Given the description of an element on the screen output the (x, y) to click on. 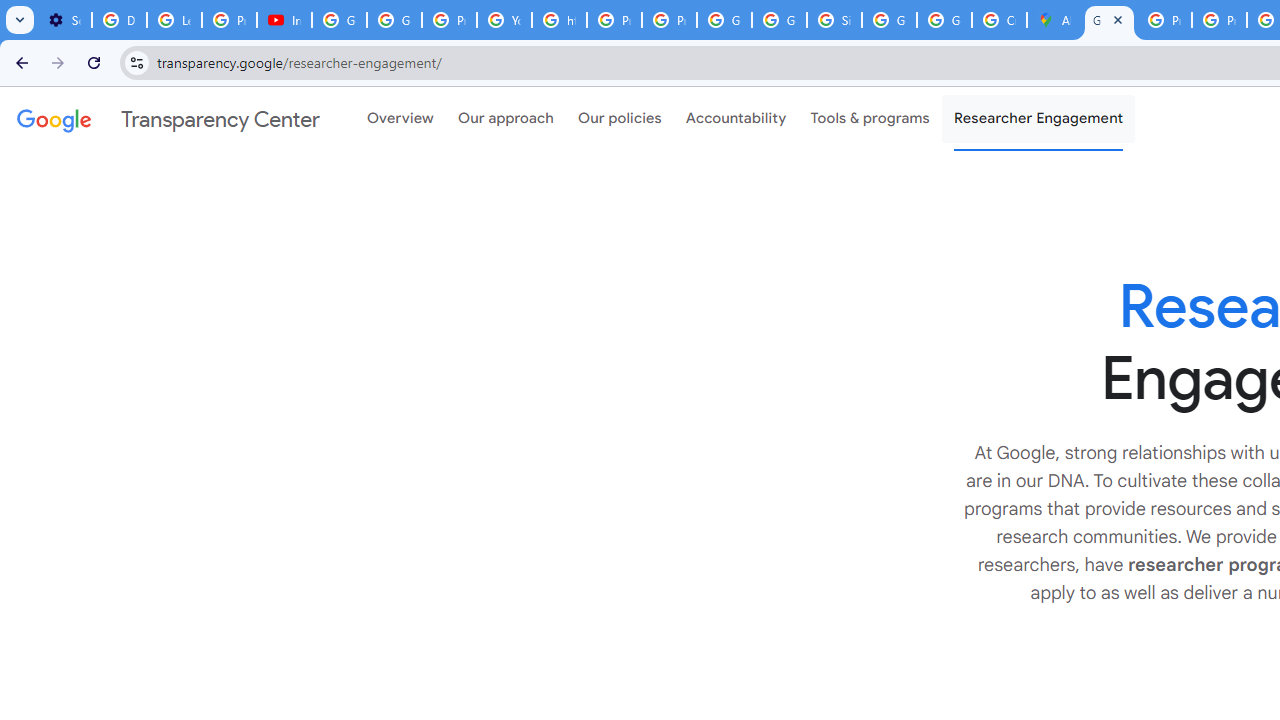
Settings - Performance (64, 20)
Tools & programs (869, 119)
YouTube (504, 20)
Google Researcher Engagement - Transparency Center (1108, 20)
Privacy Help Center - Policies Help (1218, 20)
